Given the description of an element on the screen output the (x, y) to click on. 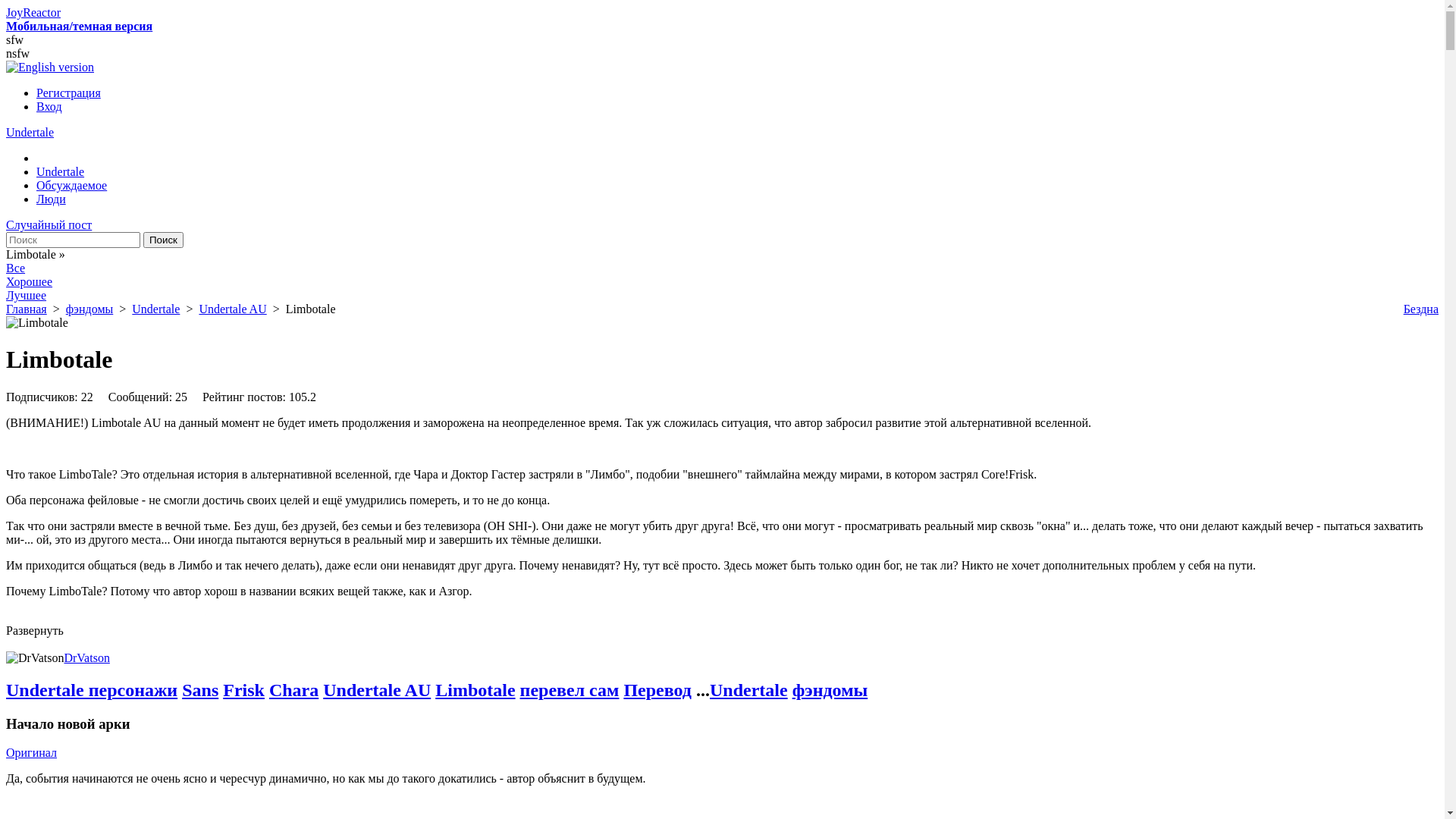
Undertale AU Element type: text (376, 689)
English version Element type: hover (50, 67)
DrVatson Element type: text (86, 657)
Undertale Element type: text (155, 308)
Undertale Element type: text (748, 689)
JoyReactor Element type: text (33, 12)
Undertale Element type: text (29, 131)
Chara Element type: text (293, 689)
Frisk Element type: text (243, 689)
Undertale AU Element type: text (232, 308)
Undertale Element type: text (60, 171)
Sans Element type: text (200, 689)
Limbotale Element type: text (474, 689)
